Given the description of an element on the screen output the (x, y) to click on. 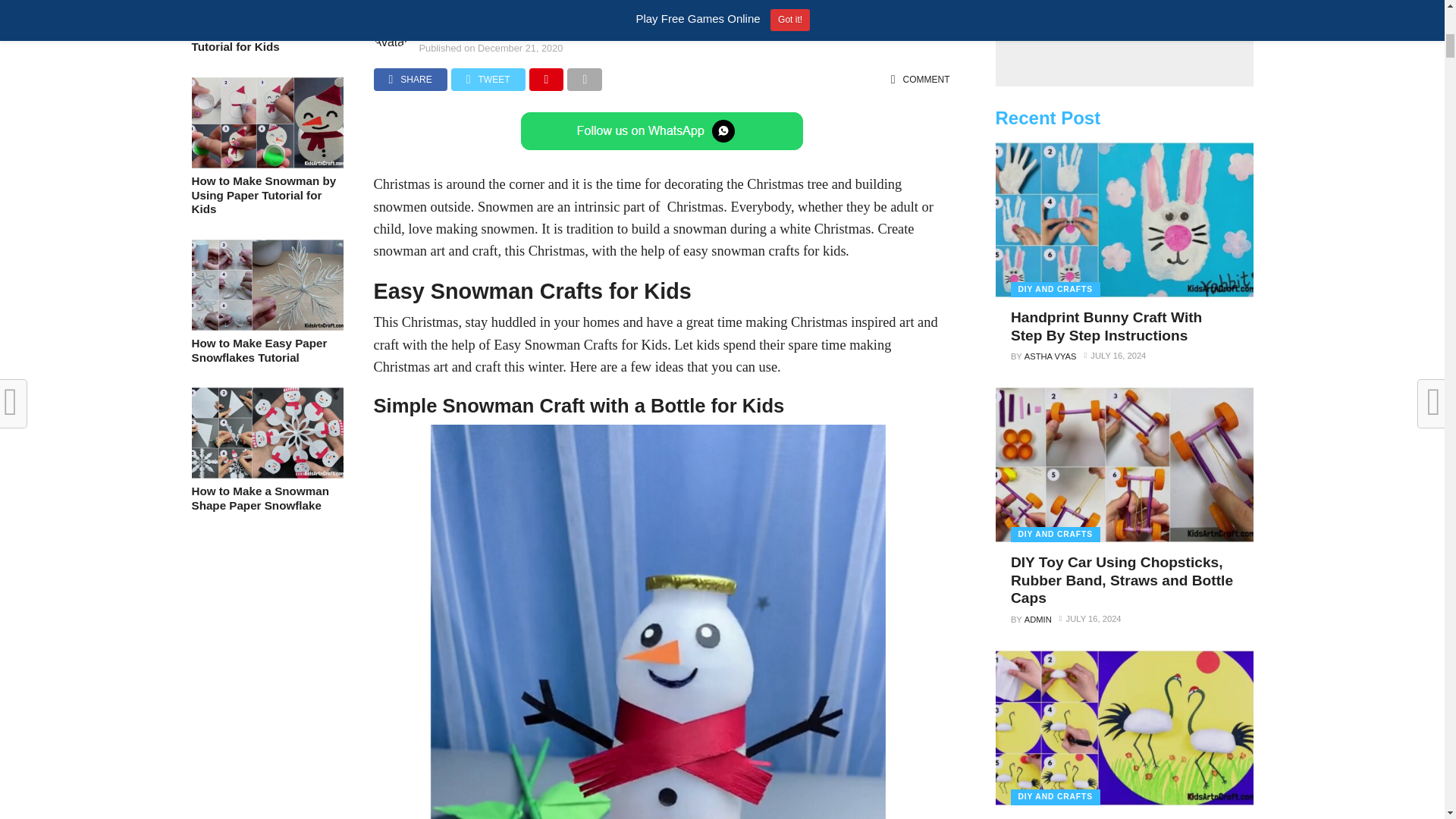
How to Make a Snowman Shape Paper Snowflake (266, 473)
How to Make Snowman by Using Paper Tutorial for Kids (266, 164)
Learn to Make Snowman Tutorial for Kids (266, 15)
How to Make Easy Paper Snowflakes Tutorial (266, 326)
Posts by Pallavi (451, 29)
